Given the description of an element on the screen output the (x, y) to click on. 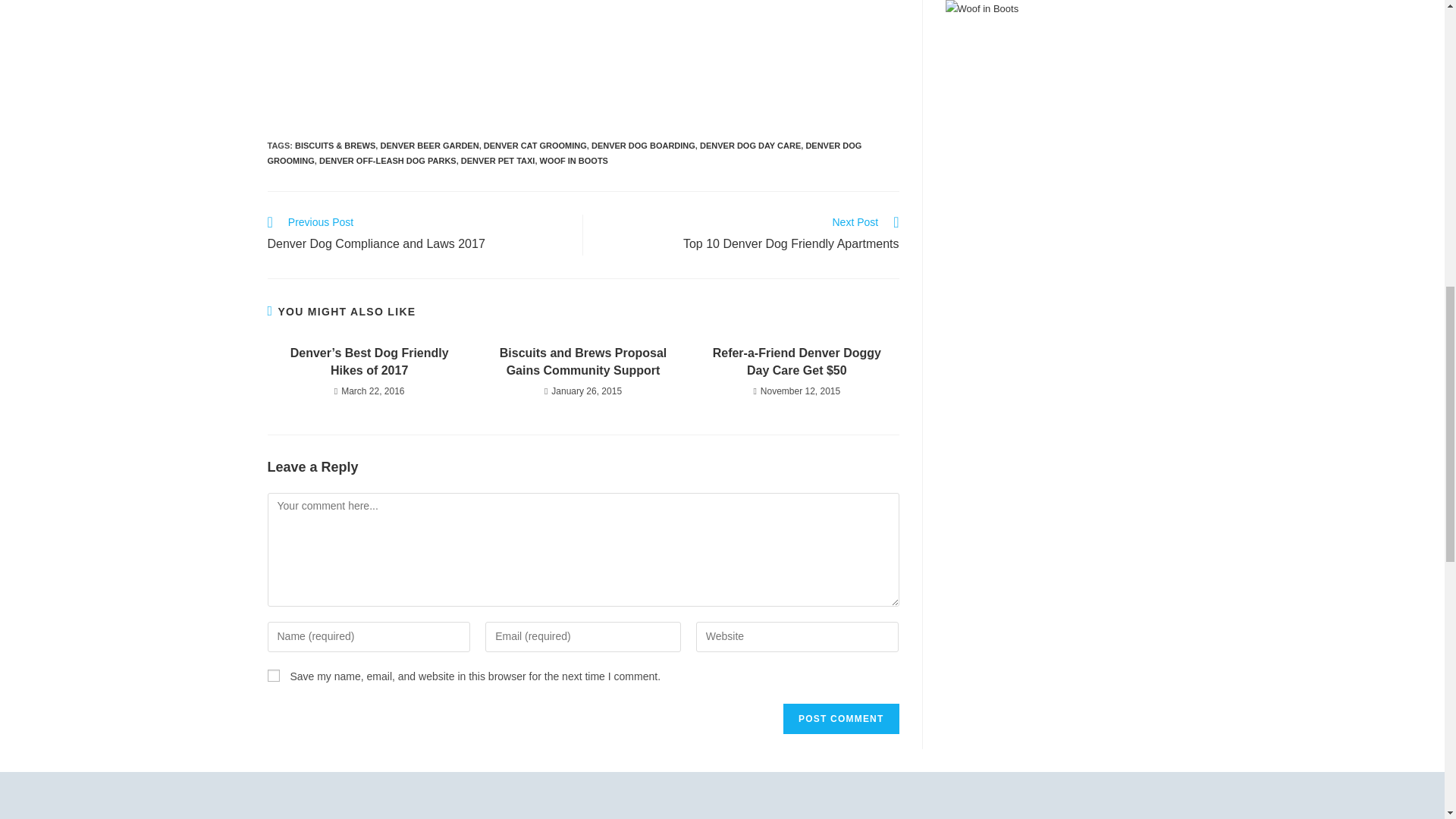
yes (272, 675)
Post Comment (840, 718)
